Given the description of an element on the screen output the (x, y) to click on. 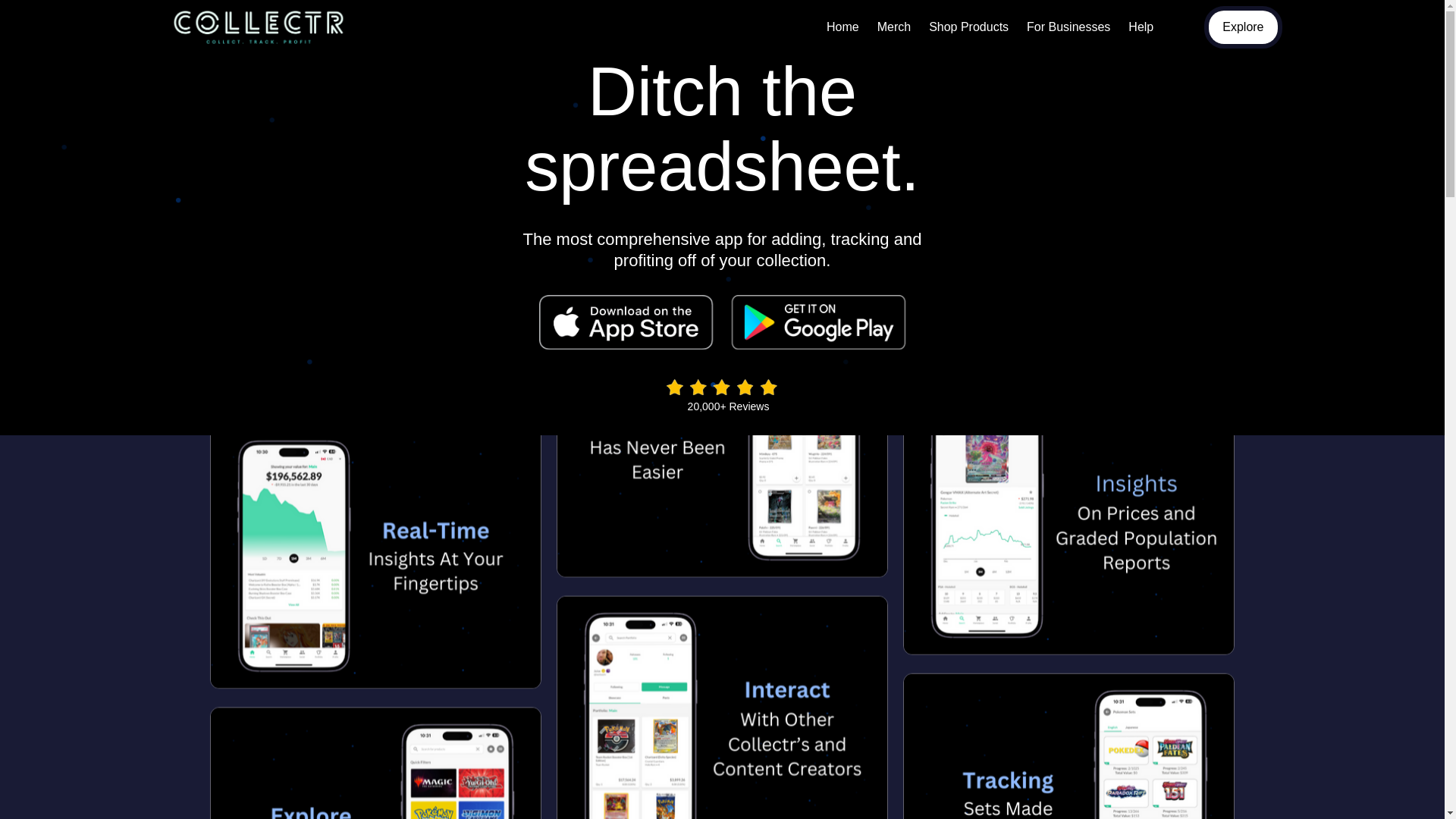
Merch (893, 27)
Help (1140, 27)
Explore (1242, 27)
Shop Products (968, 27)
For Businesses (1068, 27)
Home (841, 27)
